Given the description of an element on the screen output the (x, y) to click on. 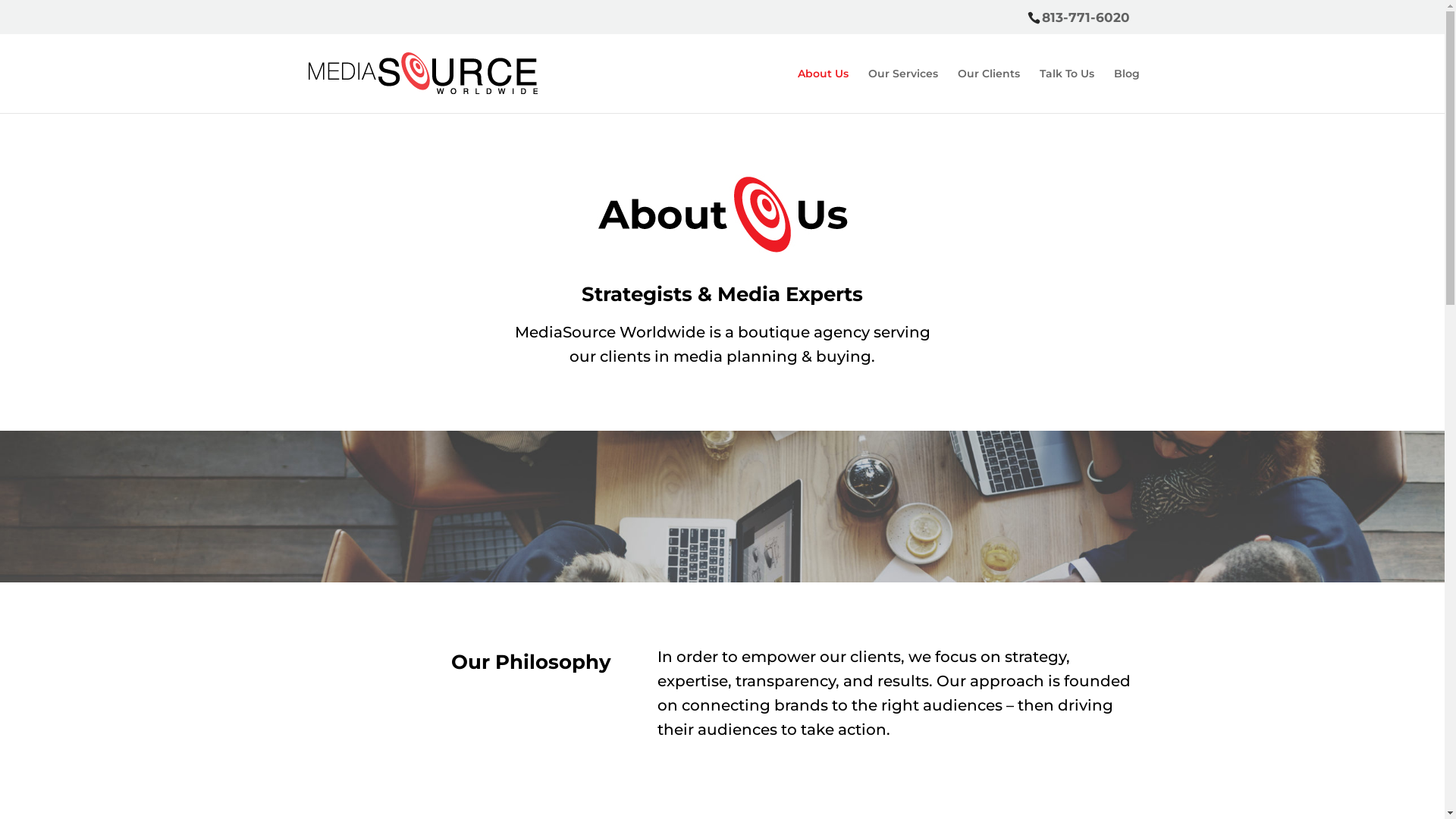
Blog Element type: text (1126, 90)
Talk To Us Element type: text (1065, 90)
Our Services Element type: text (902, 90)
813-771-6020 Element type: text (1085, 17)
About Us Element type: text (822, 90)
Our Clients Element type: text (988, 90)
